Given the description of an element on the screen output the (x, y) to click on. 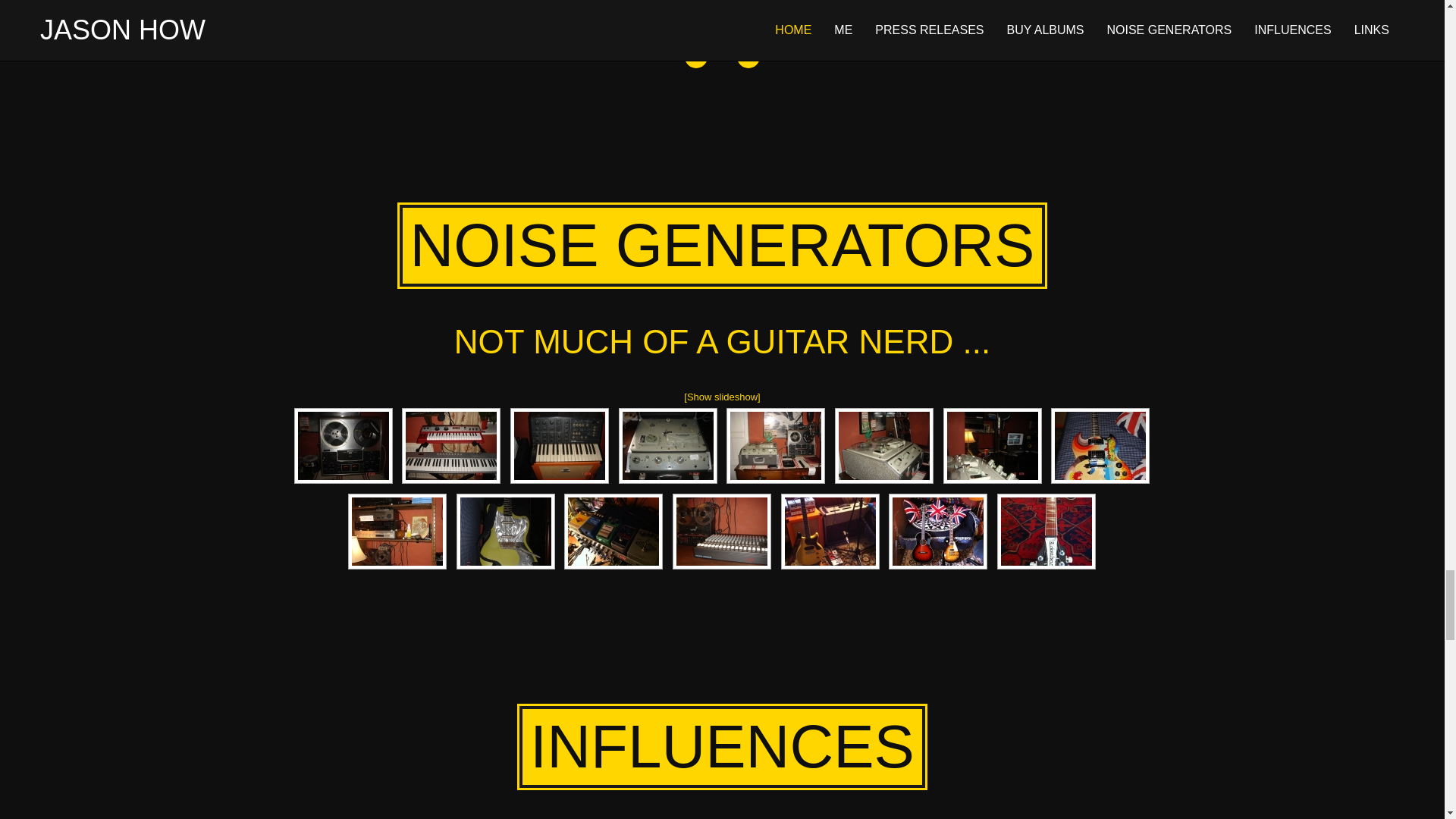
Micro Korg (450, 445)
Great synth with a vocoder... keeps the MS10 company! (449, 445)
Sony reel to reel (343, 445)
MS10 (559, 445)
Ferrograph (667, 445)
